Given the description of an element on the screen output the (x, y) to click on. 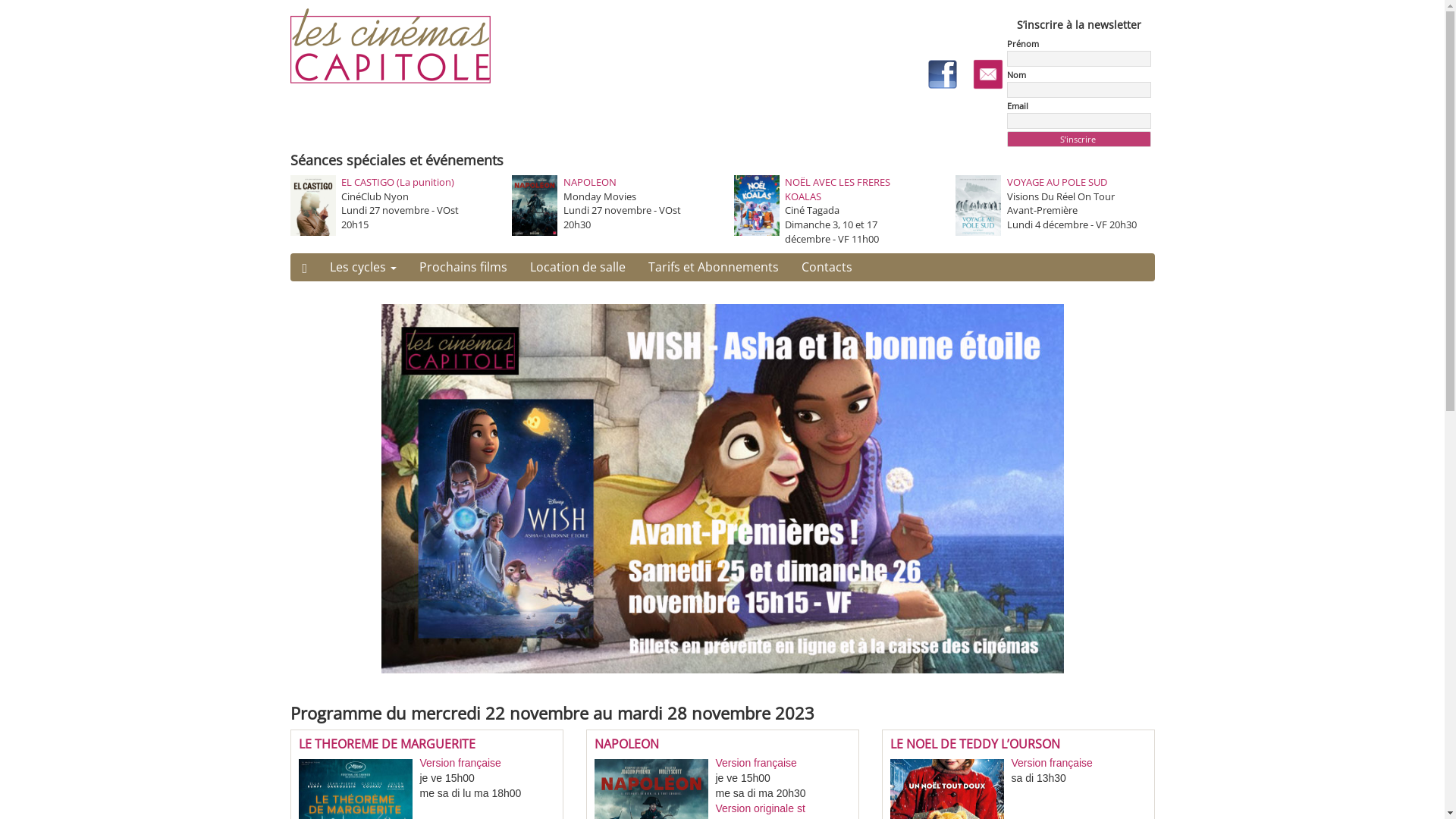
Contacts Element type: text (826, 267)
Location de salle Element type: text (577, 267)
VOYAGE AU POLE SUD Element type: text (1057, 181)
LE THEOREME DE MARGUERITE Element type: text (386, 743)
NAPOLEON Element type: text (626, 743)
Tarifs et Abonnements Element type: text (713, 267)
Les cycles Element type: text (362, 267)
EL CASTIGO (La punition) Element type: text (397, 181)
NAPOLEON Element type: text (588, 181)
Prochains films Element type: text (462, 267)
